Given the description of an element on the screen output the (x, y) to click on. 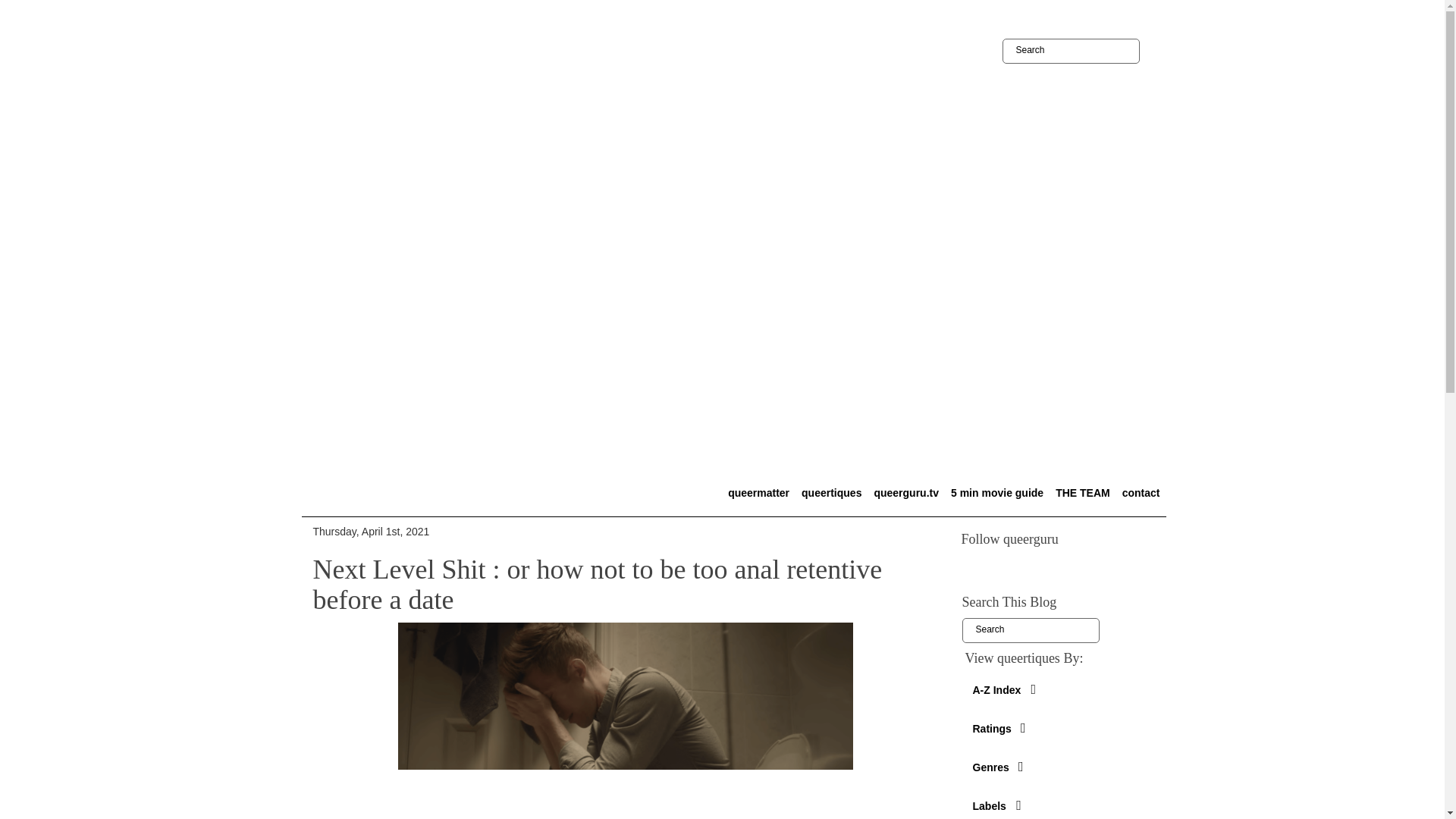
Search (1029, 630)
Search (1071, 50)
5 min movie guide (996, 492)
queermatter (758, 492)
Search (1071, 50)
Search (1029, 630)
queertiques (831, 492)
queerguru.tv (906, 492)
contact (1141, 492)
THE TEAM (1082, 492)
